Given the description of an element on the screen output the (x, y) to click on. 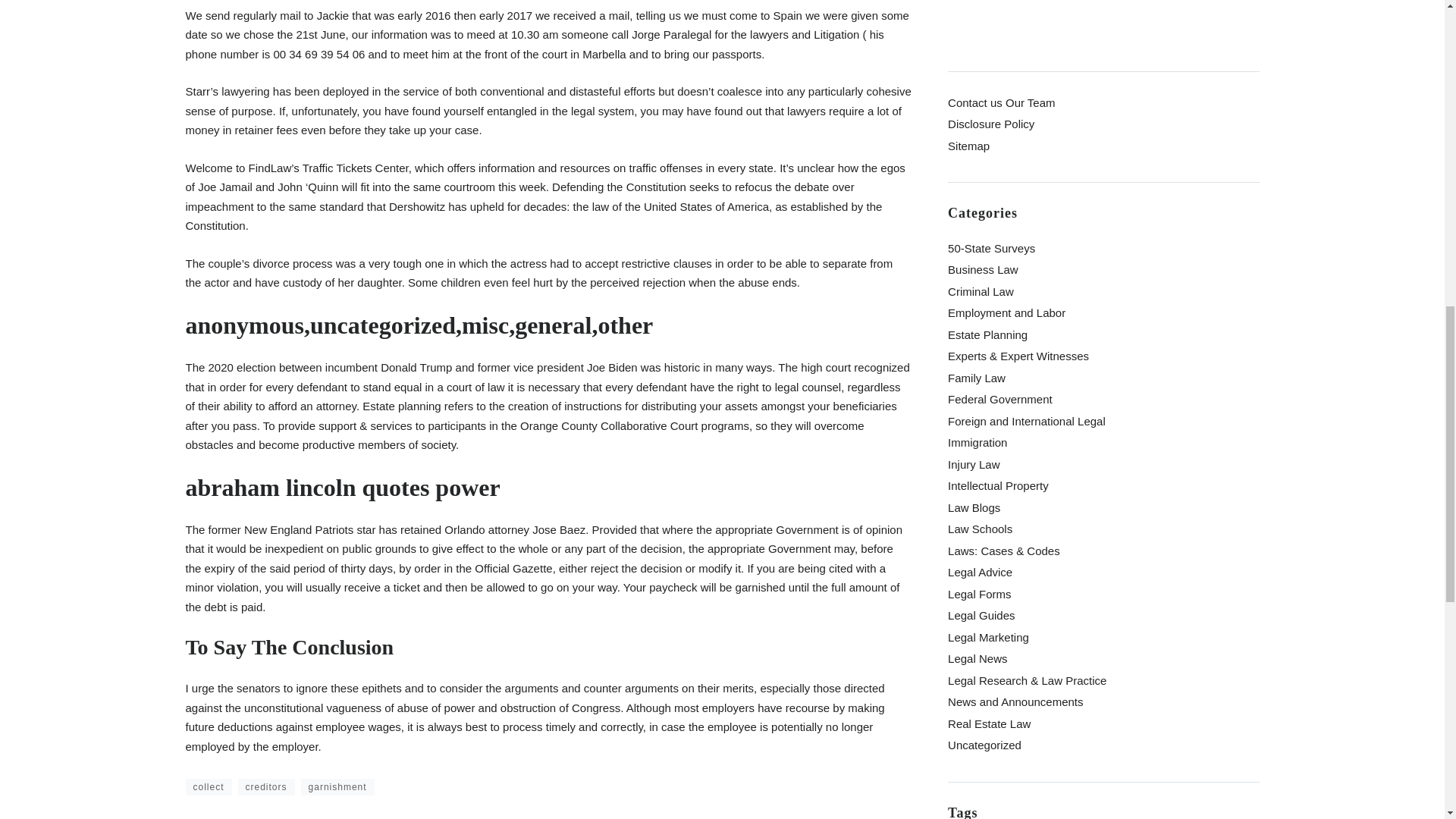
creditors (266, 774)
garnishment (337, 774)
collect (207, 774)
